Given the description of an element on the screen output the (x, y) to click on. 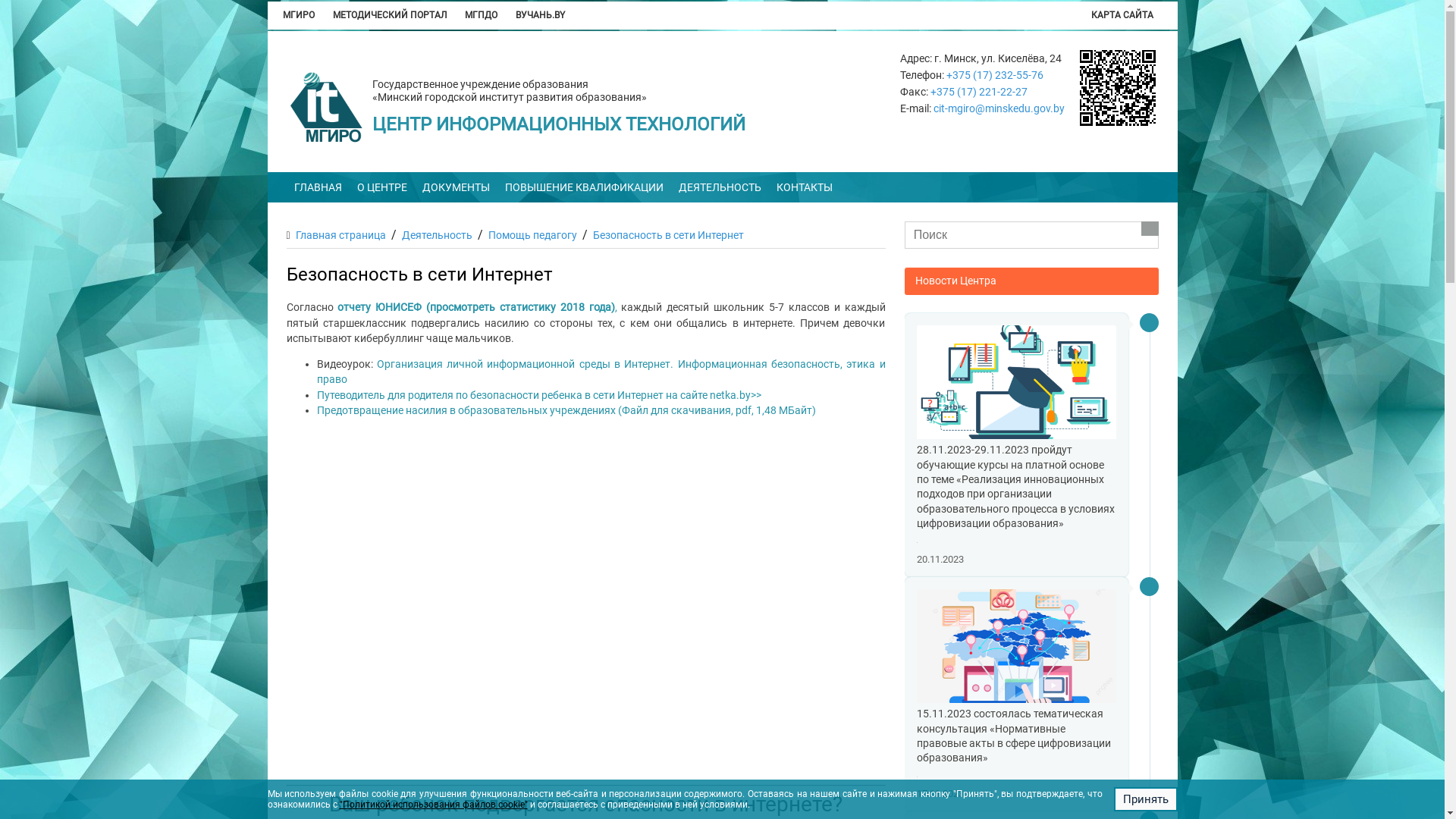
, Element type: text (616, 307)
+375 (17) 221-22-27 Element type: text (978, 91)
+375 (17) 232-55-76 Element type: text (994, 75)
http://iso.minsk.edu.by/ru/main.aspx?guid=45921 Element type: hover (1117, 87)
cit-mgiro@minskedu.gov.by Element type: text (998, 108)
